Given the description of an element on the screen output the (x, y) to click on. 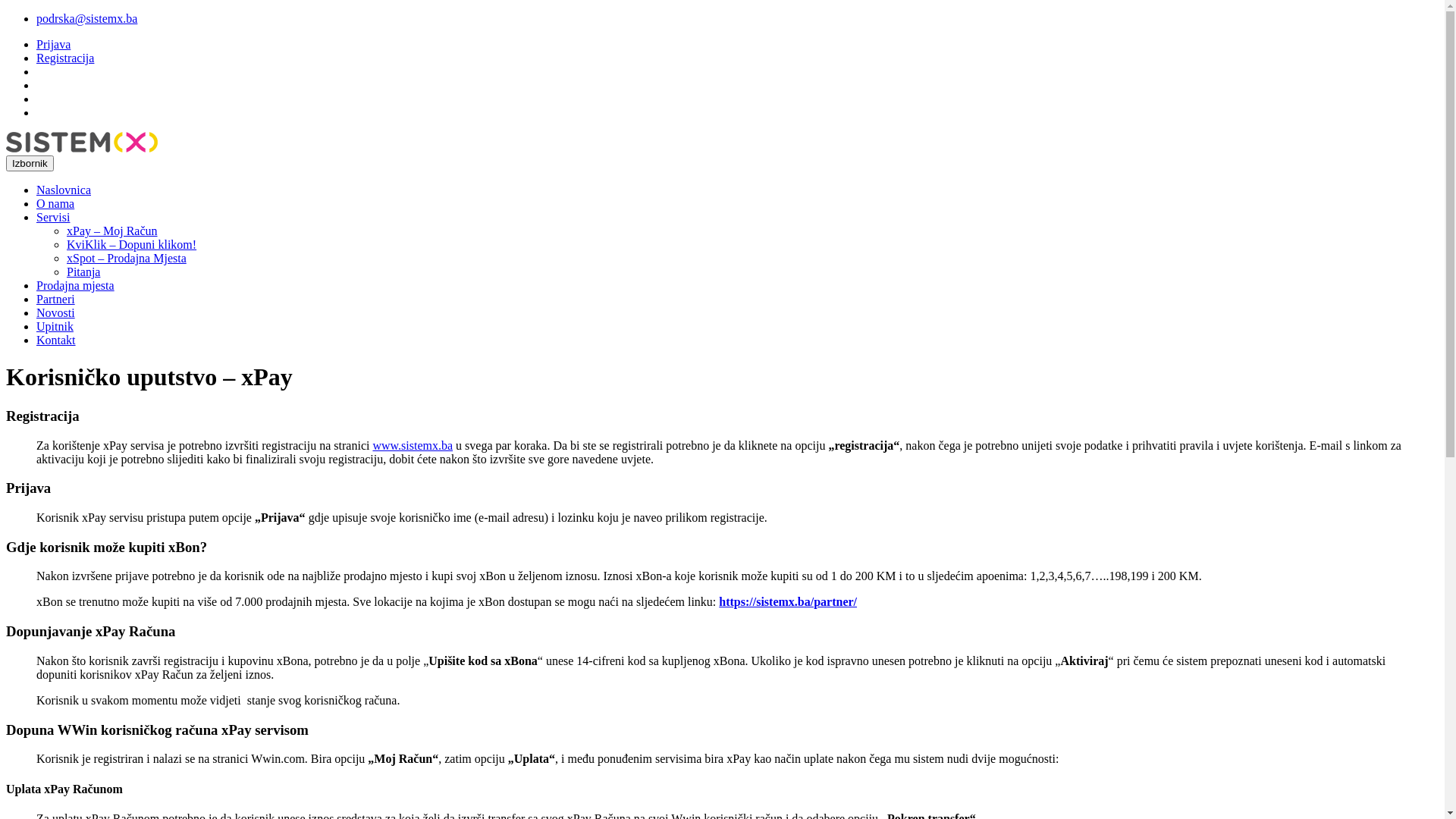
Upitnik Element type: text (54, 326)
Naslovnica Element type: text (63, 189)
O nama Element type: text (55, 203)
podrska@sistemx.ba Element type: text (86, 18)
https://sistemx.ba/partner/ Element type: text (787, 601)
Novosti Element type: text (55, 312)
Partneri Element type: text (55, 298)
Izbornik Element type: text (29, 163)
Kontakt Element type: text (55, 339)
Prodajna mjesta Element type: text (75, 285)
Prijava Element type: text (53, 43)
Pitanja Element type: text (83, 271)
Servisi Element type: text (52, 216)
Registracija Element type: text (65, 57)
www.sistemx.ba Element type: text (412, 445)
